Given the description of an element on the screen output the (x, y) to click on. 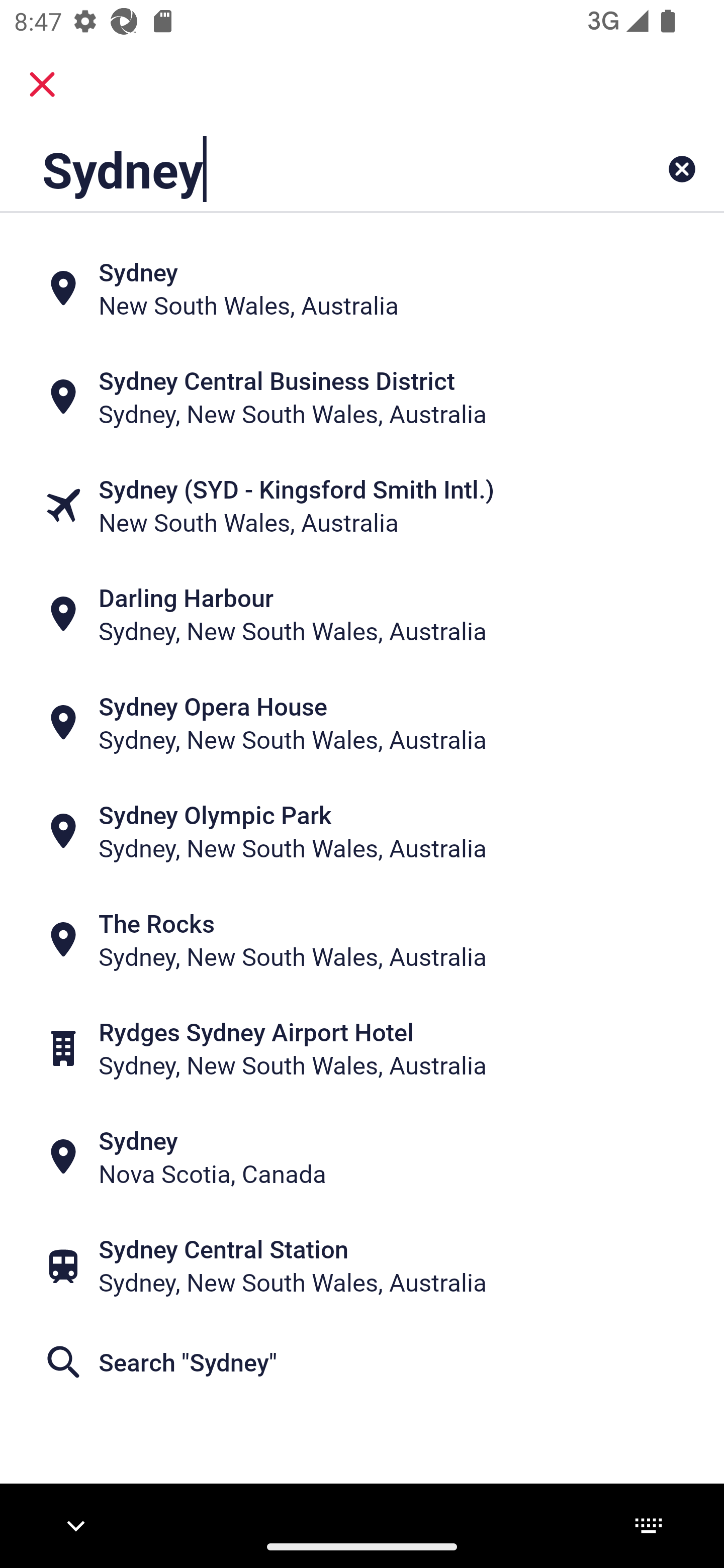
close. (42, 84)
Clear (681, 169)
Sydney (298, 169)
Sydney New South Wales, Australia (362, 288)
Darling Harbour Sydney, New South Wales, Australia (362, 613)
The Rocks Sydney, New South Wales, Australia (362, 939)
Sydney Nova Scotia, Canada (362, 1156)
Search "Sydney" (361, 1362)
